Given the description of an element on the screen output the (x, y) to click on. 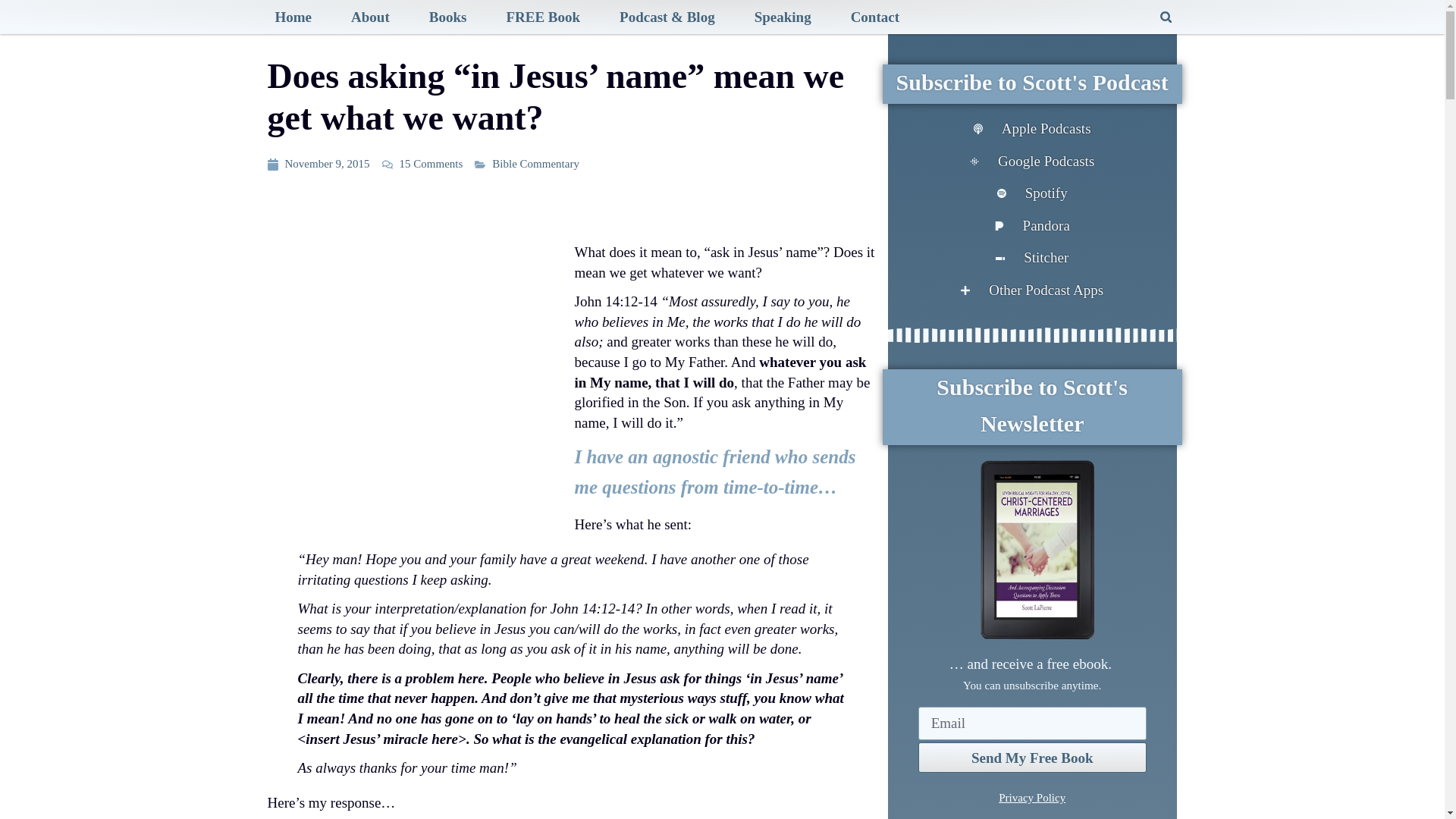
FREE Book (542, 17)
Books (448, 17)
Home (292, 17)
November 9, 2015 (317, 163)
About (370, 17)
Speaking (782, 17)
Contact (875, 17)
